Given the description of an element on the screen output the (x, y) to click on. 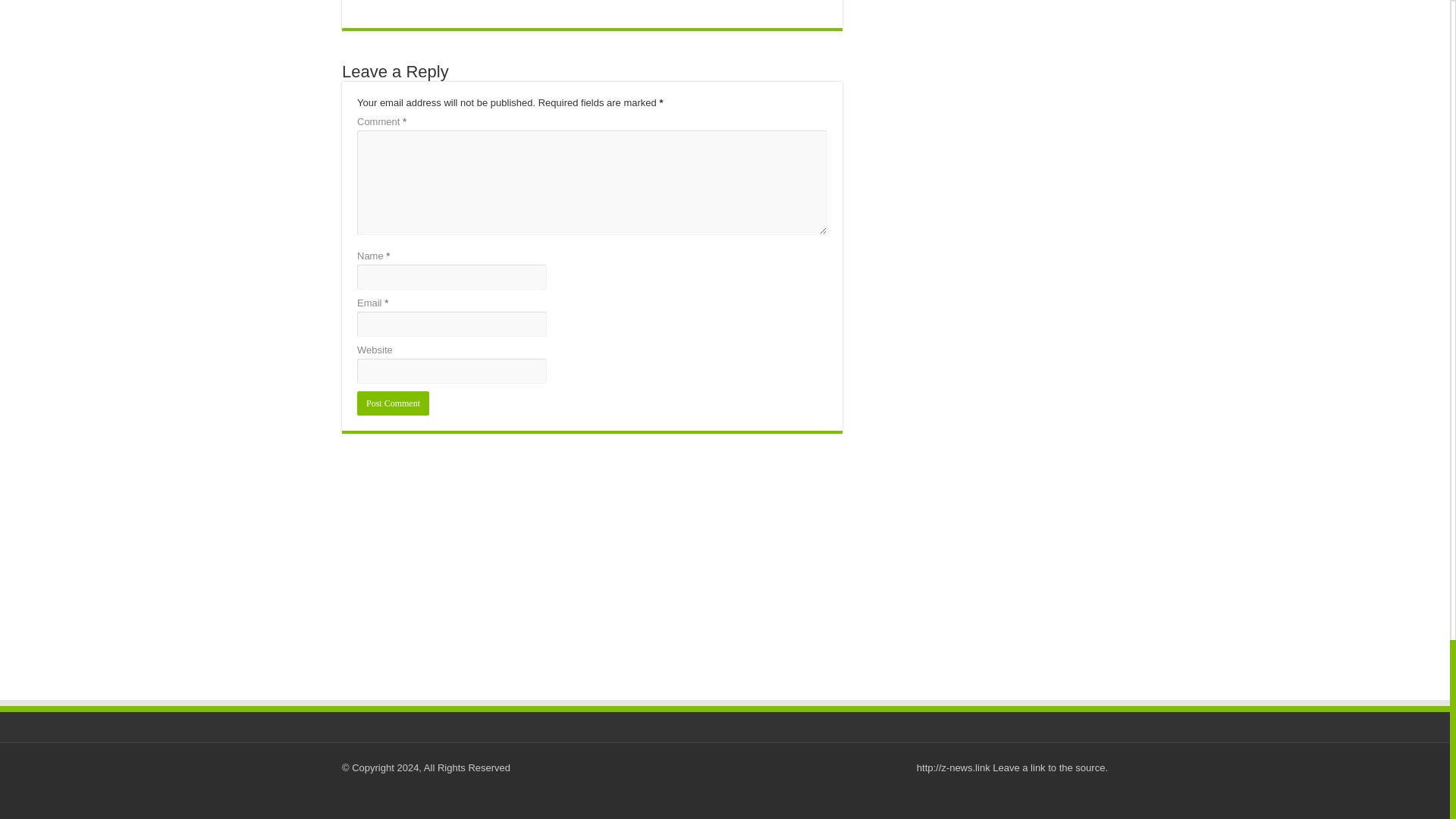
Post Comment (392, 403)
